Given the description of an element on the screen output the (x, y) to click on. 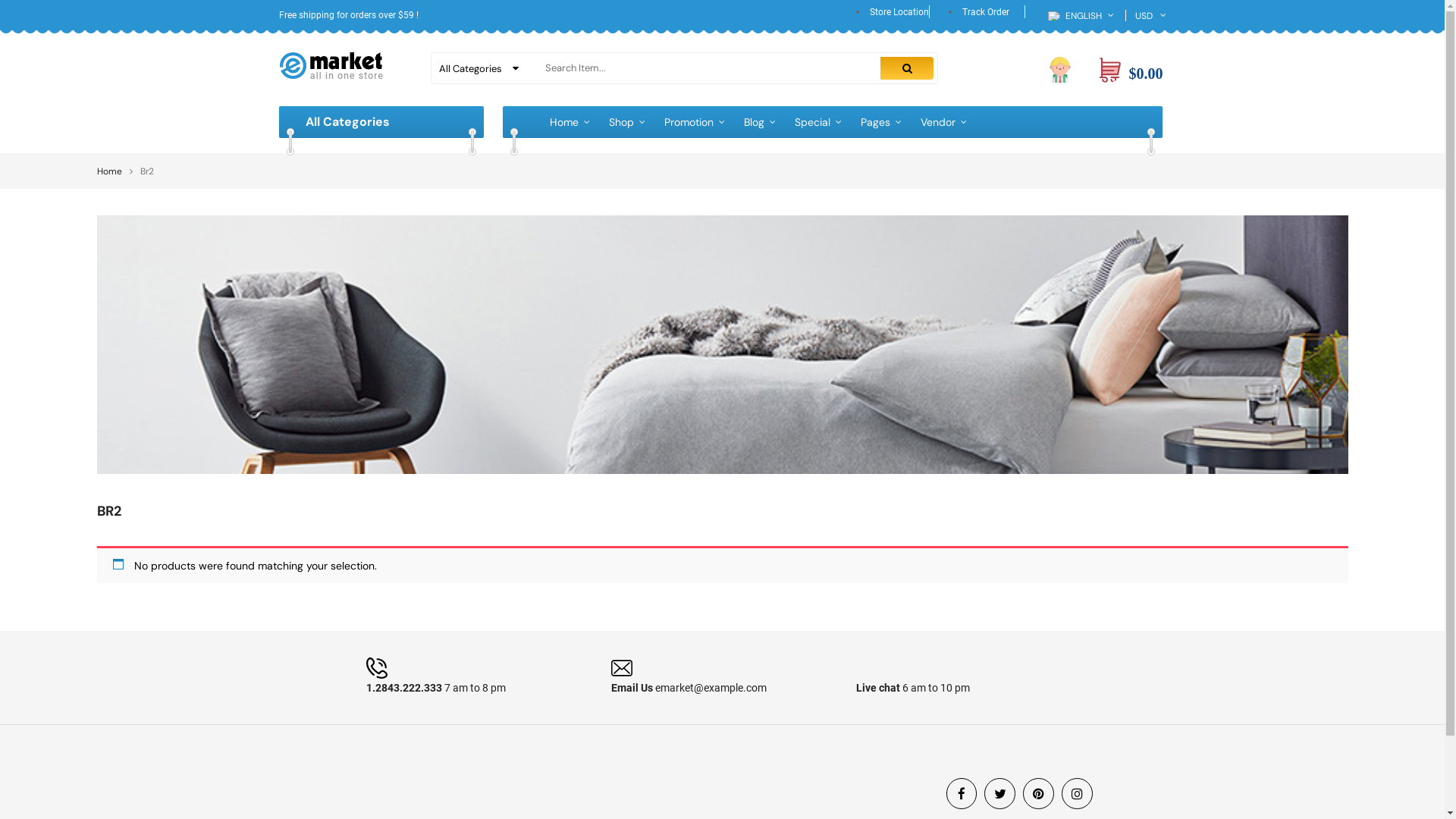
Sign in Element type: text (1060, 68)
ENGLISH Element type: text (1074, 15)
English Element type: hover (1054, 15)
Shop Element type: text (620, 122)
Special Element type: text (812, 122)
Home Element type: text (109, 171)
Home Element type: text (563, 122)
logo-home15 Element type: hover (330, 65)
USD Element type: text (1145, 15)
Pages Element type: text (874, 122)
Vendor Element type: text (937, 122)
Promotion Element type: text (688, 122)
Blog Element type: text (753, 122)
